Given the description of an element on the screen output the (x, y) to click on. 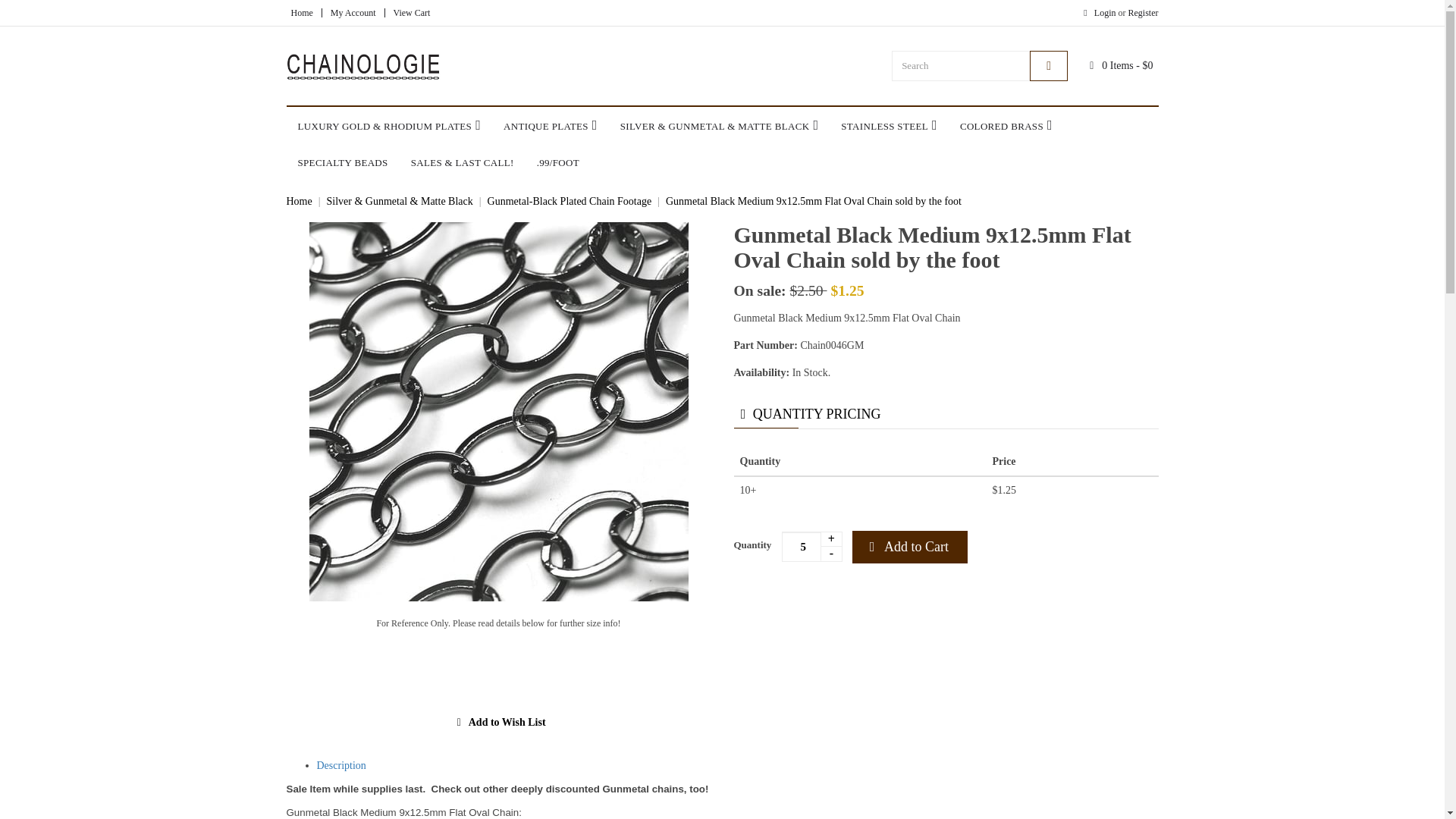
5 (812, 546)
View Cart (410, 12)
Home (301, 12)
COLORED BRASS (1006, 125)
Register (1141, 12)
My Account (353, 12)
STAINLESS STEEL (889, 125)
ANTIQUE PLATES (550, 125)
Login (1096, 12)
